Given the description of an element on the screen output the (x, y) to click on. 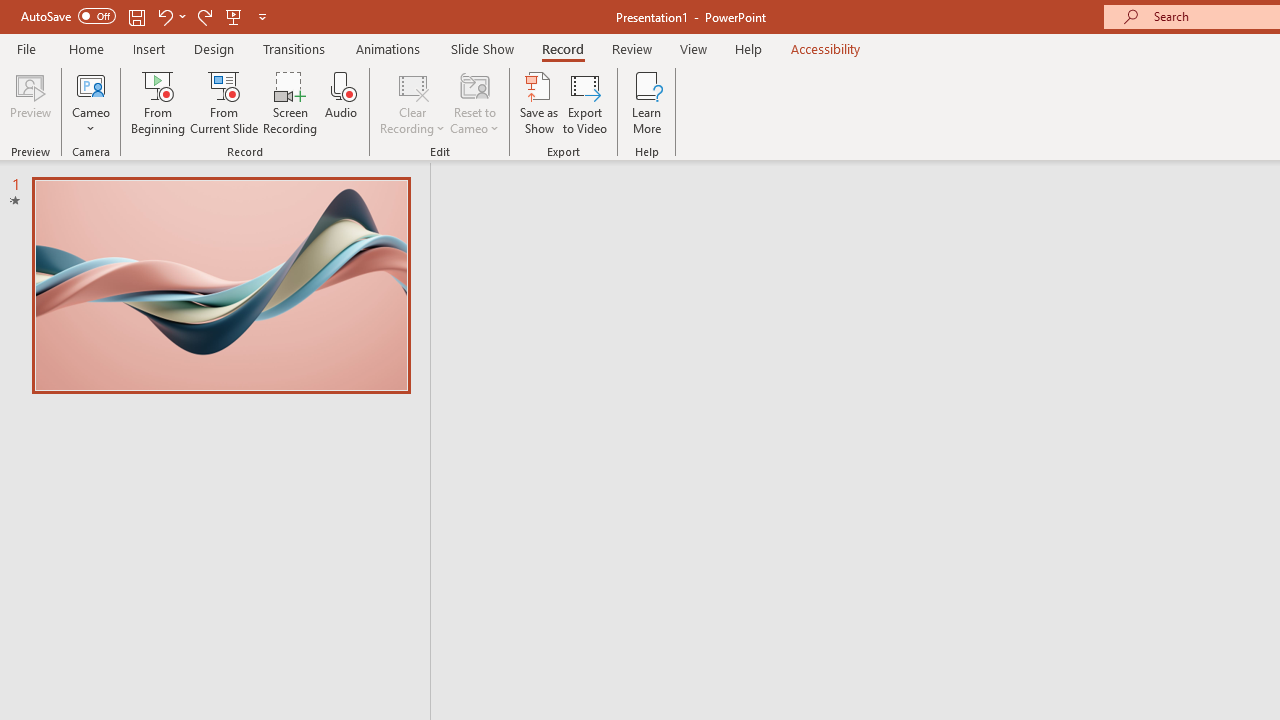
From Current Slide... (224, 102)
